Given the description of an element on the screen output the (x, y) to click on. 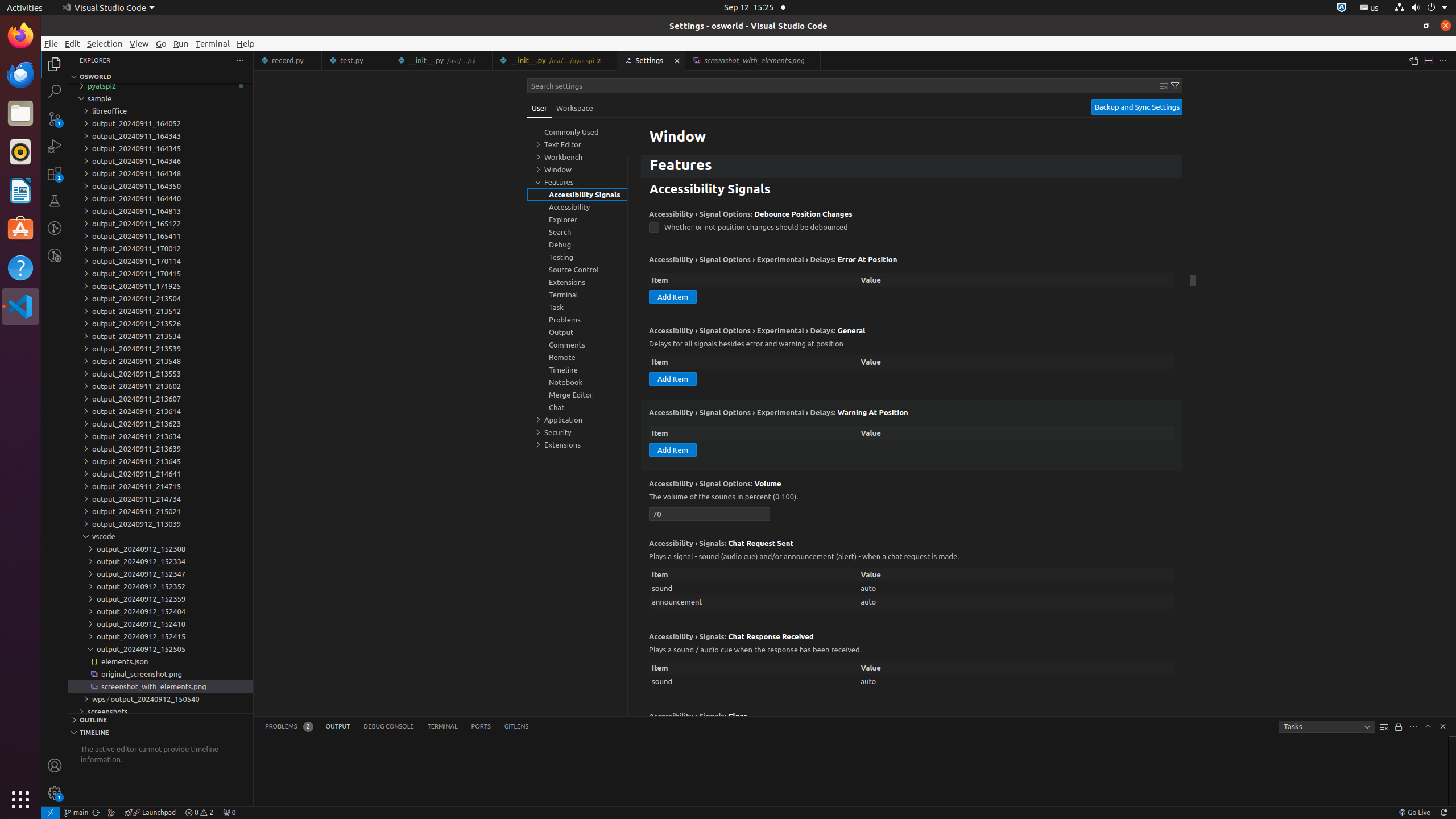
output_20240912_152308 Element type: tree-item (160, 548)
output_20240912_150540, compact, wps Element type: tree-item (154, 698)
output_20240912_150540 Element type: tree-item (160, 698)
Accessibility › Signal Options › Experimental › Delays Error At Position. Element type: tree-item (911, 282)
